Given the description of an element on the screen output the (x, y) to click on. 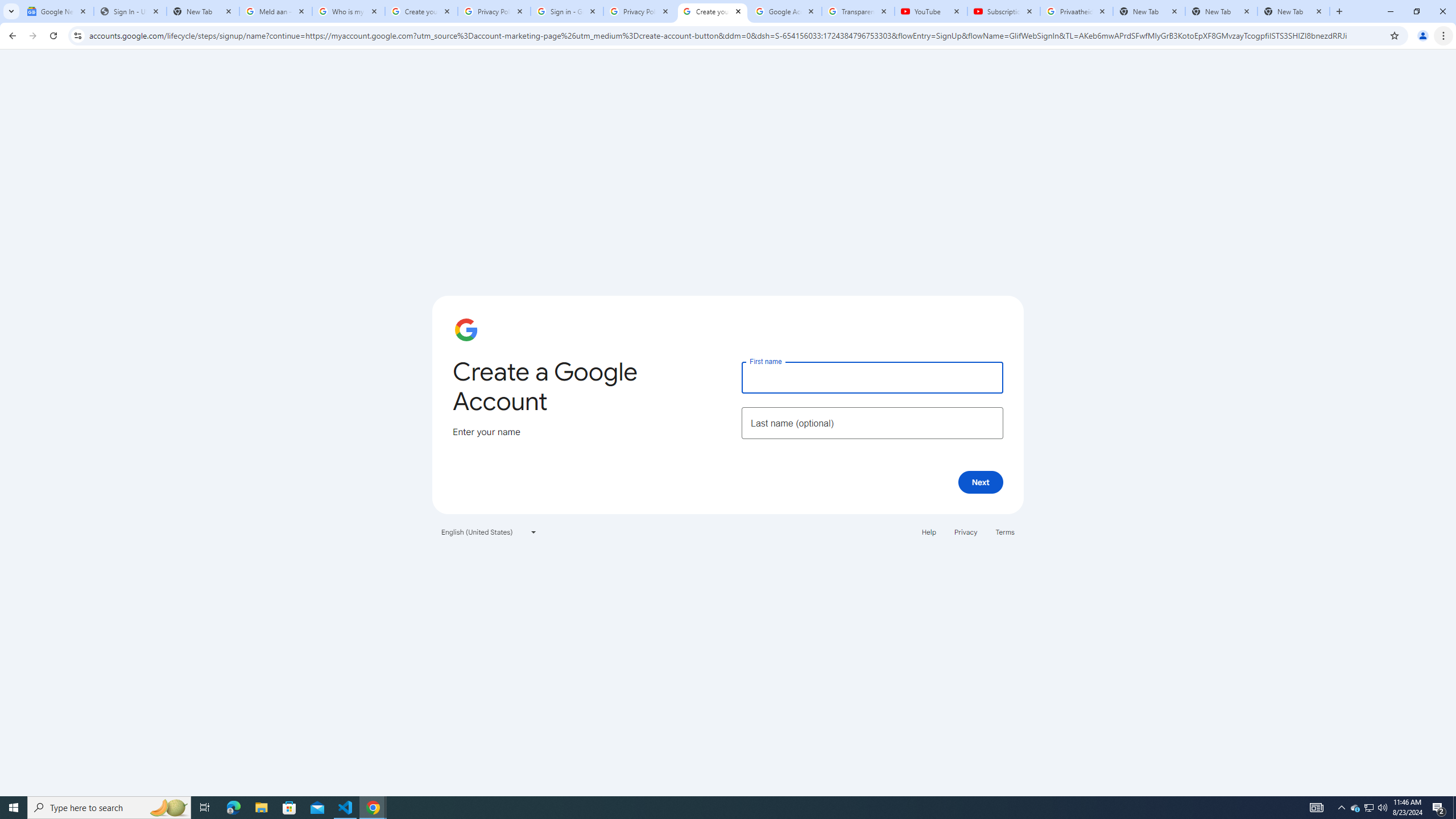
Restore (1416, 11)
Subscriptions - YouTube (1003, 11)
Search tabs (10, 11)
Who is my administrator? - Google Account Help (348, 11)
YouTube (930, 11)
New Tab (1293, 11)
First name (871, 376)
Address and search bar (735, 35)
